Given the description of an element on the screen output the (x, y) to click on. 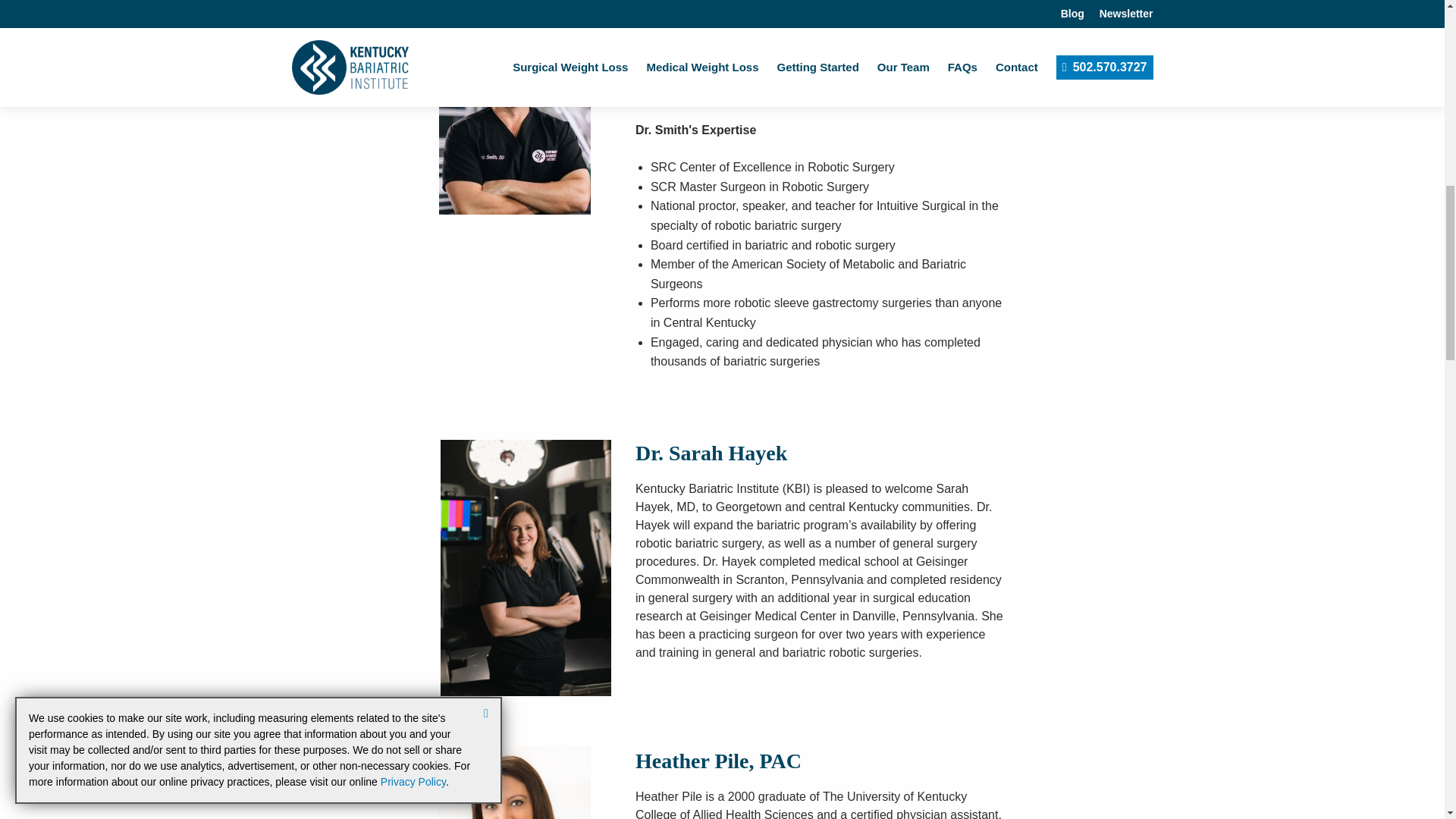
Dr. Sarah Hayek (525, 566)
